Given the description of an element on the screen output the (x, y) to click on. 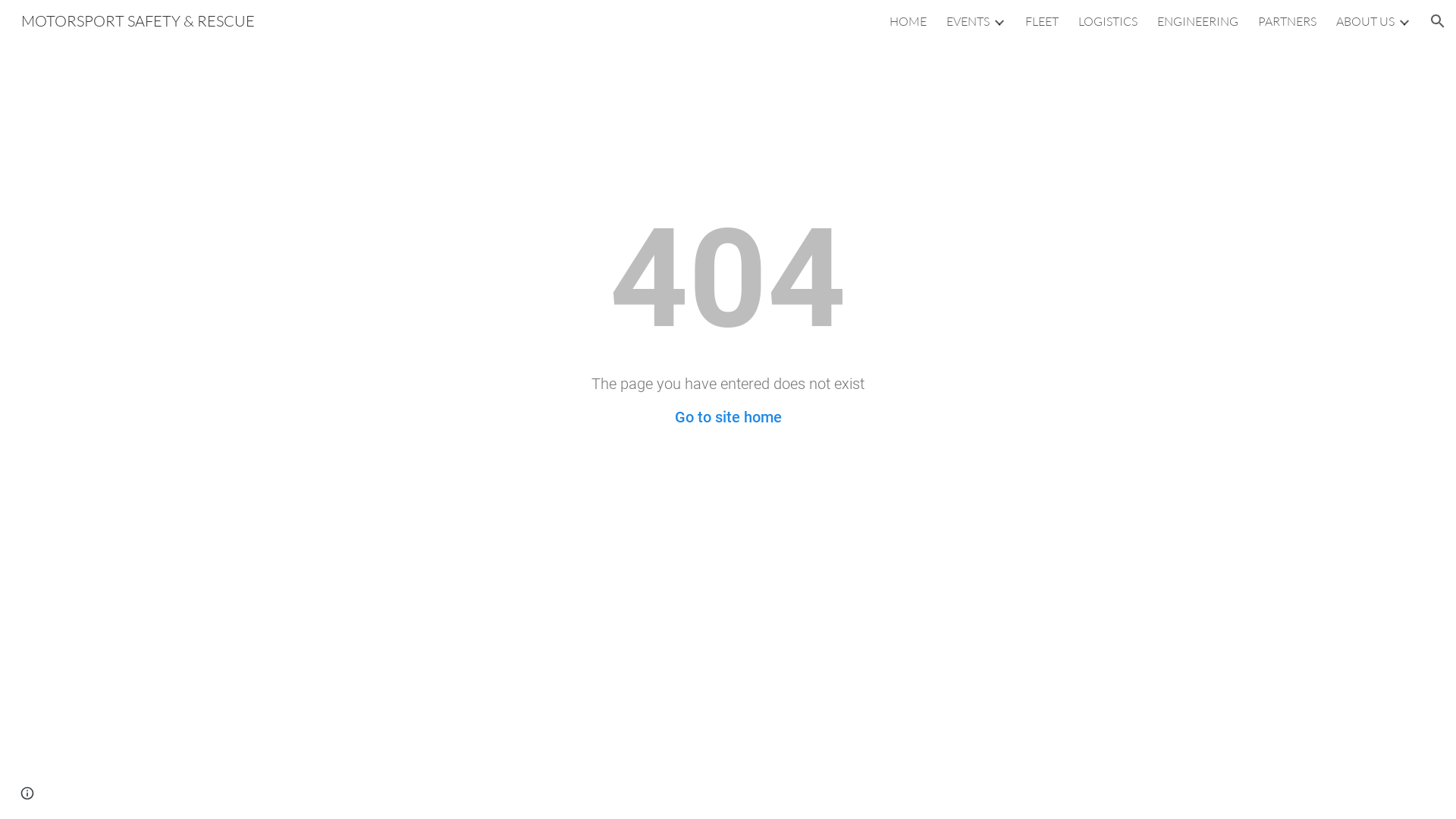
Expand/Collapse Element type: hover (1403, 20)
PARTNERS Element type: text (1287, 20)
LOGISTICS Element type: text (1107, 20)
ENGINEERING Element type: text (1197, 20)
ABOUT US Element type: text (1365, 20)
FLEET Element type: text (1041, 20)
HOME Element type: text (907, 20)
EVENTS Element type: text (967, 20)
Go to site home Element type: text (727, 416)
MOTORSPORT SAFETY & RESCUE Element type: text (137, 18)
Expand/Collapse Element type: hover (998, 20)
